Given the description of an element on the screen output the (x, y) to click on. 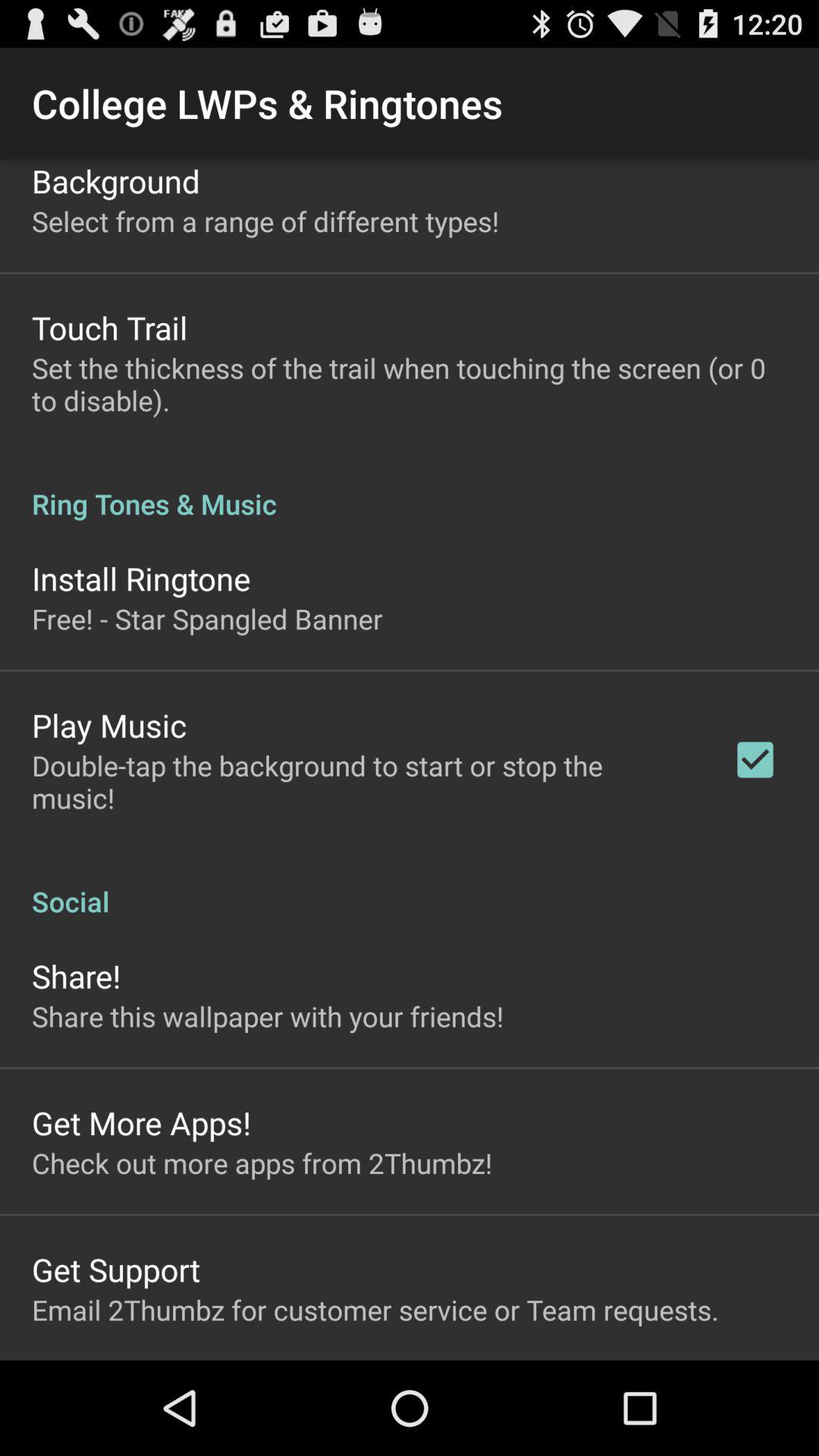
tap app below ring tones & music app (755, 759)
